Given the description of an element on the screen output the (x, y) to click on. 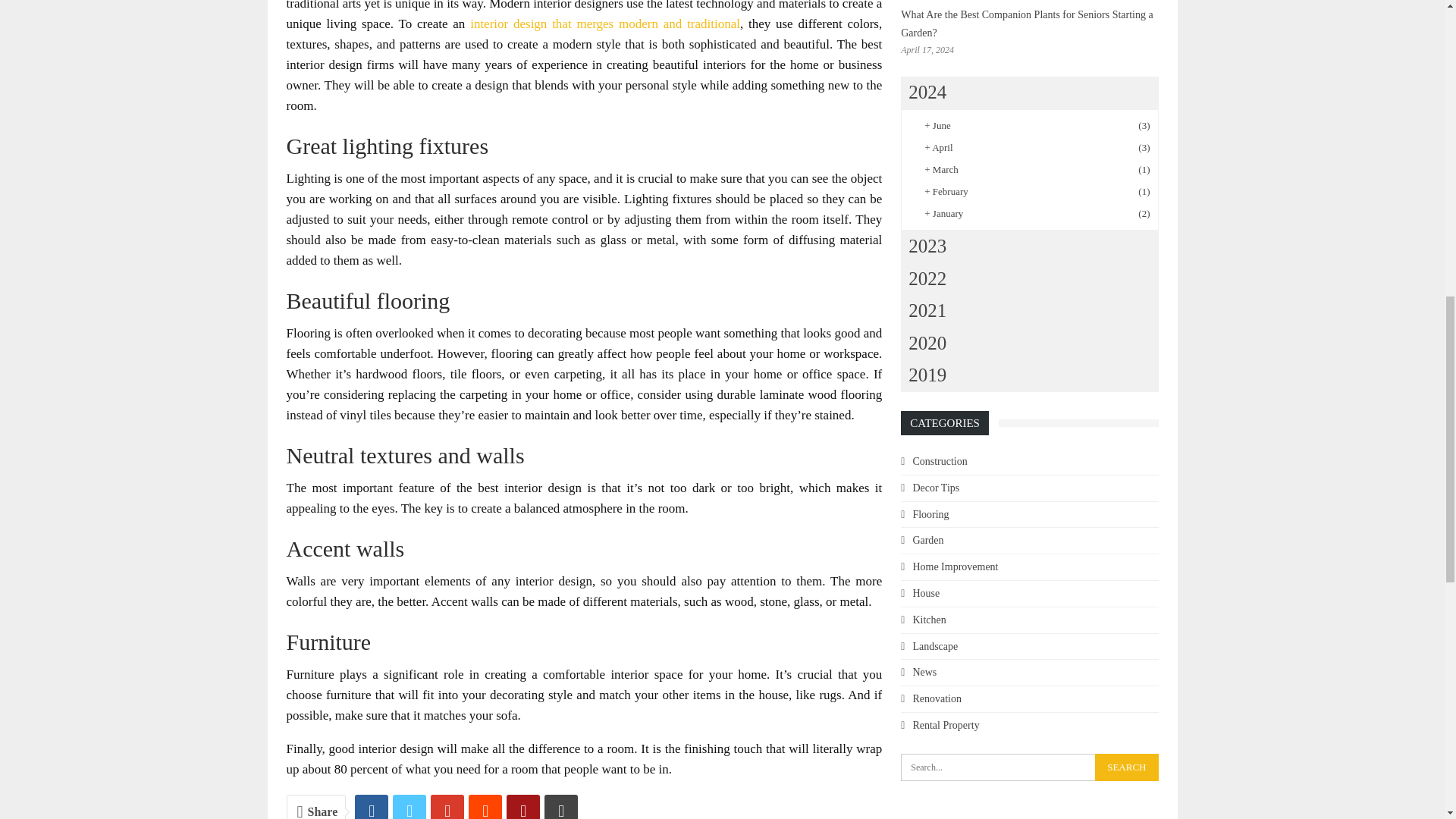
Search (1125, 767)
Search (1125, 767)
interior design that merges modern and traditional (604, 23)
